Given the description of an element on the screen output the (x, y) to click on. 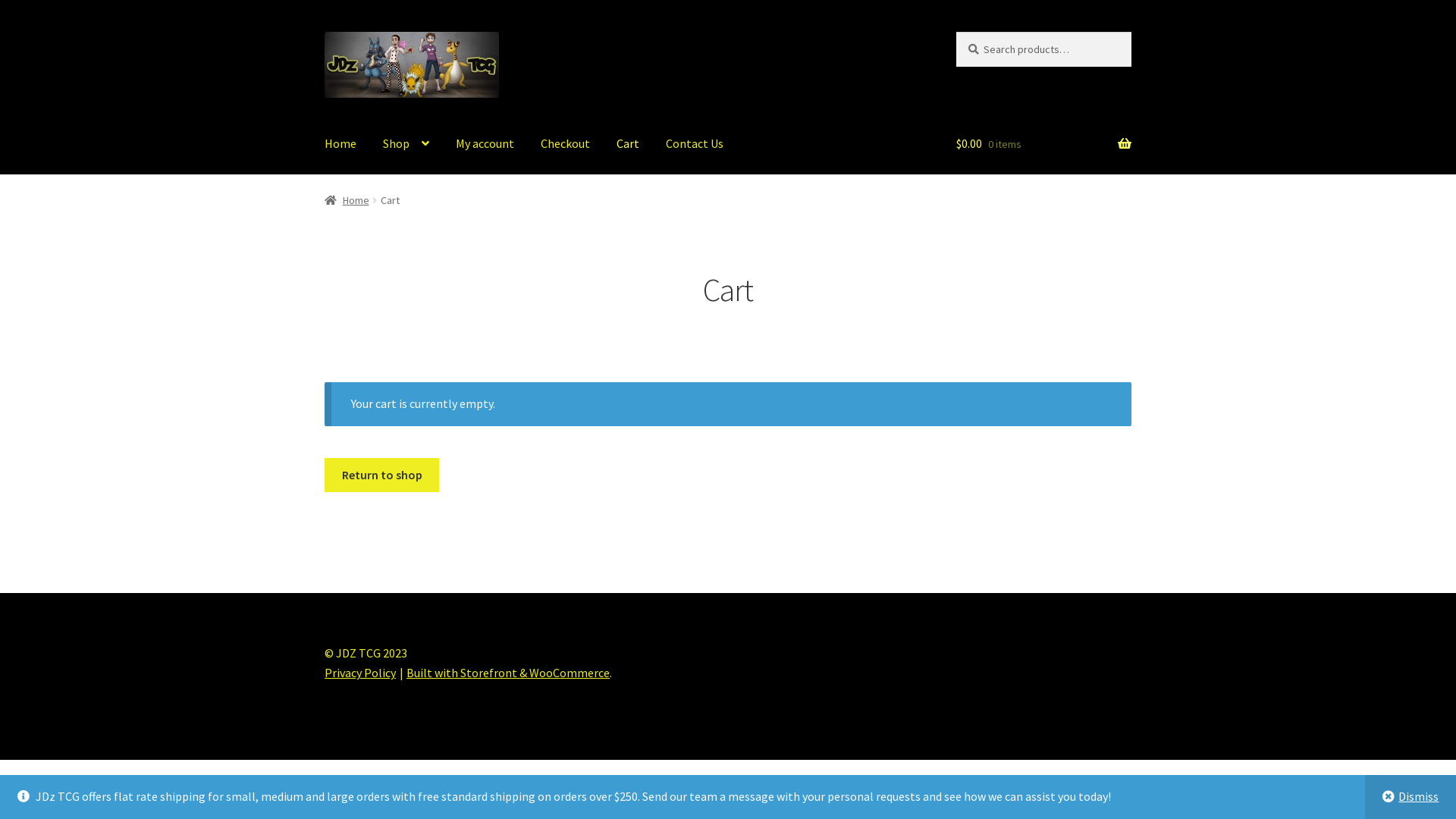
Skip to navigation Element type: text (323, 31)
My account Element type: text (484, 143)
Checkout Element type: text (565, 143)
$0.00 0 items Element type: text (1043, 143)
Privacy Policy Element type: text (359, 672)
Return to shop Element type: text (381, 475)
Shop Element type: text (405, 143)
Search Element type: text (955, 31)
Contact Us Element type: text (694, 143)
Cart Element type: text (627, 143)
Built with Storefront & WooCommerce Element type: text (507, 672)
Home Element type: text (346, 200)
Home Element type: text (340, 143)
